Given the description of an element on the screen output the (x, y) to click on. 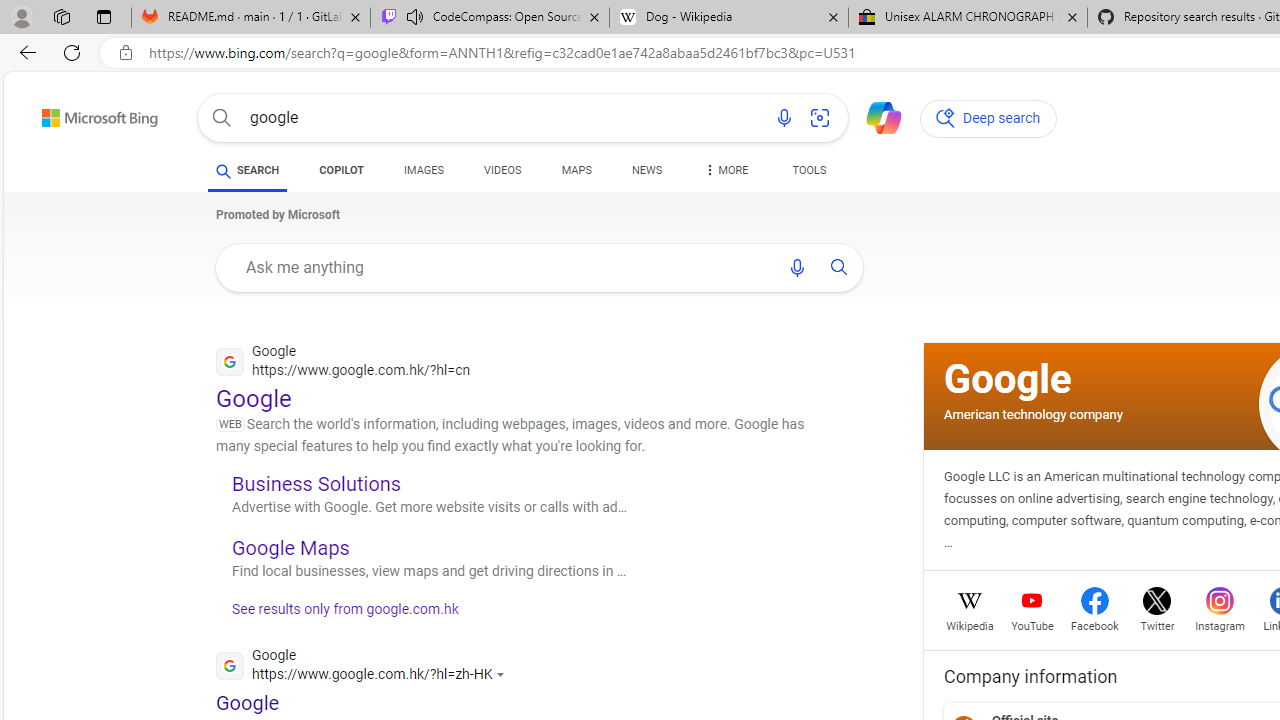
Business Solutions (316, 483)
Search using an image (820, 117)
SEARCH (247, 170)
Facebook (1094, 624)
Instagram (1219, 624)
TOOLS (808, 170)
NEWS (646, 170)
Google (1008, 378)
MAPS (576, 170)
MAPS (576, 173)
Back to Bing search (87, 113)
